Given the description of an element on the screen output the (x, y) to click on. 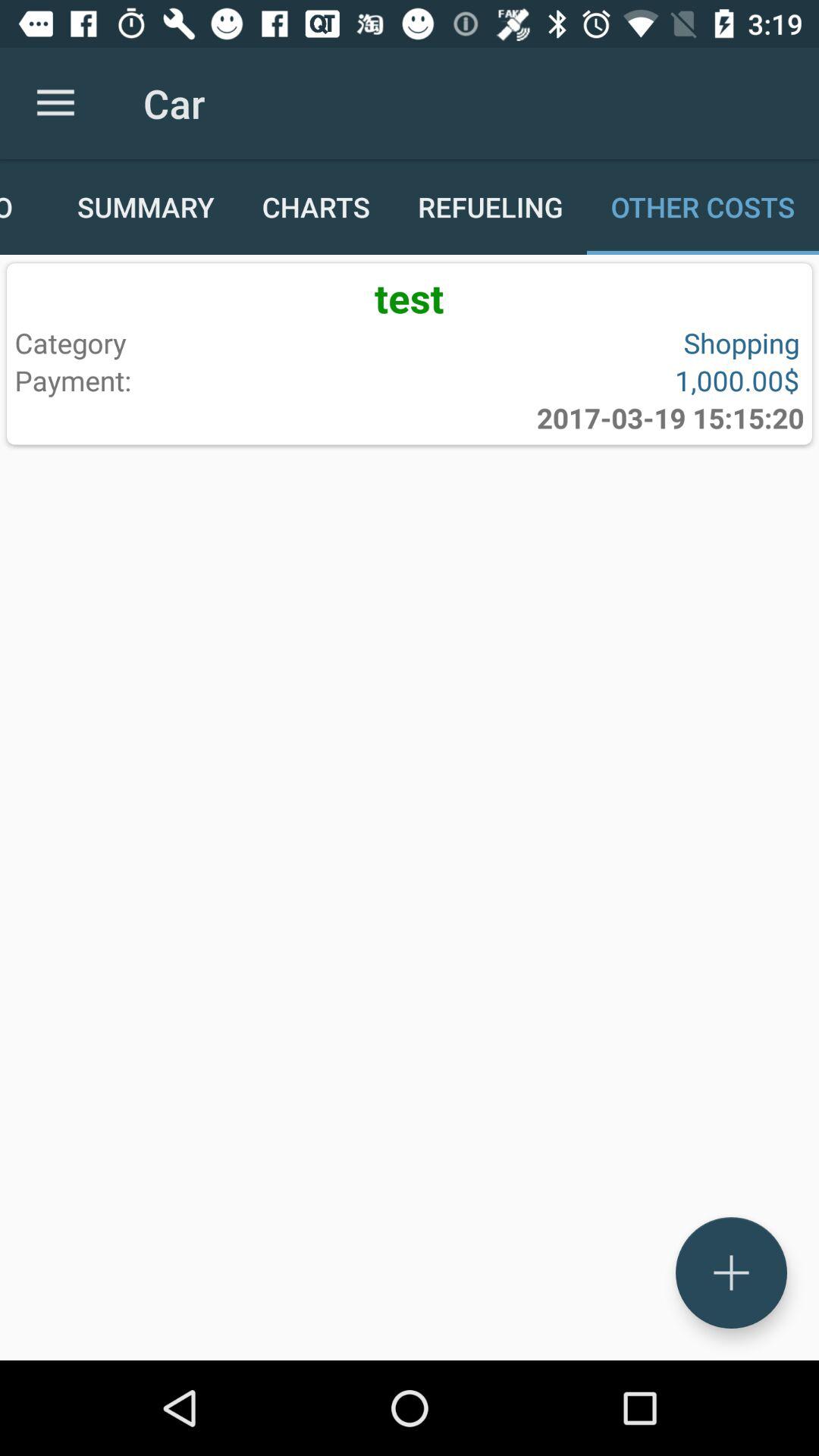
press icon above the payment: icon (208, 342)
